Given the description of an element on the screen output the (x, y) to click on. 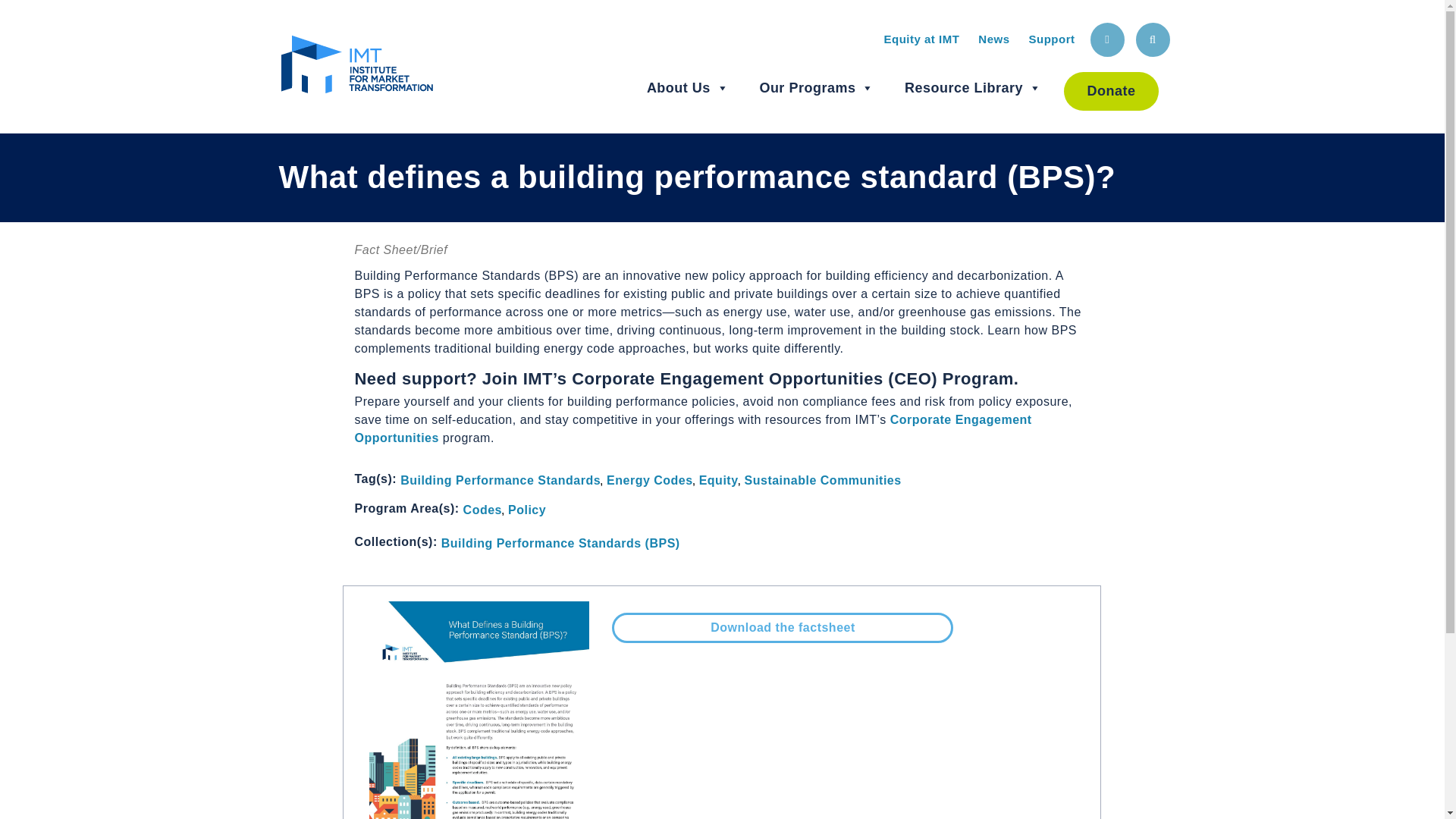
Support (1051, 39)
About Us (687, 87)
Our Programs (816, 87)
Equity at IMT (920, 39)
Resource Library (972, 87)
News (993, 39)
Search (1152, 39)
